Given the description of an element on the screen output the (x, y) to click on. 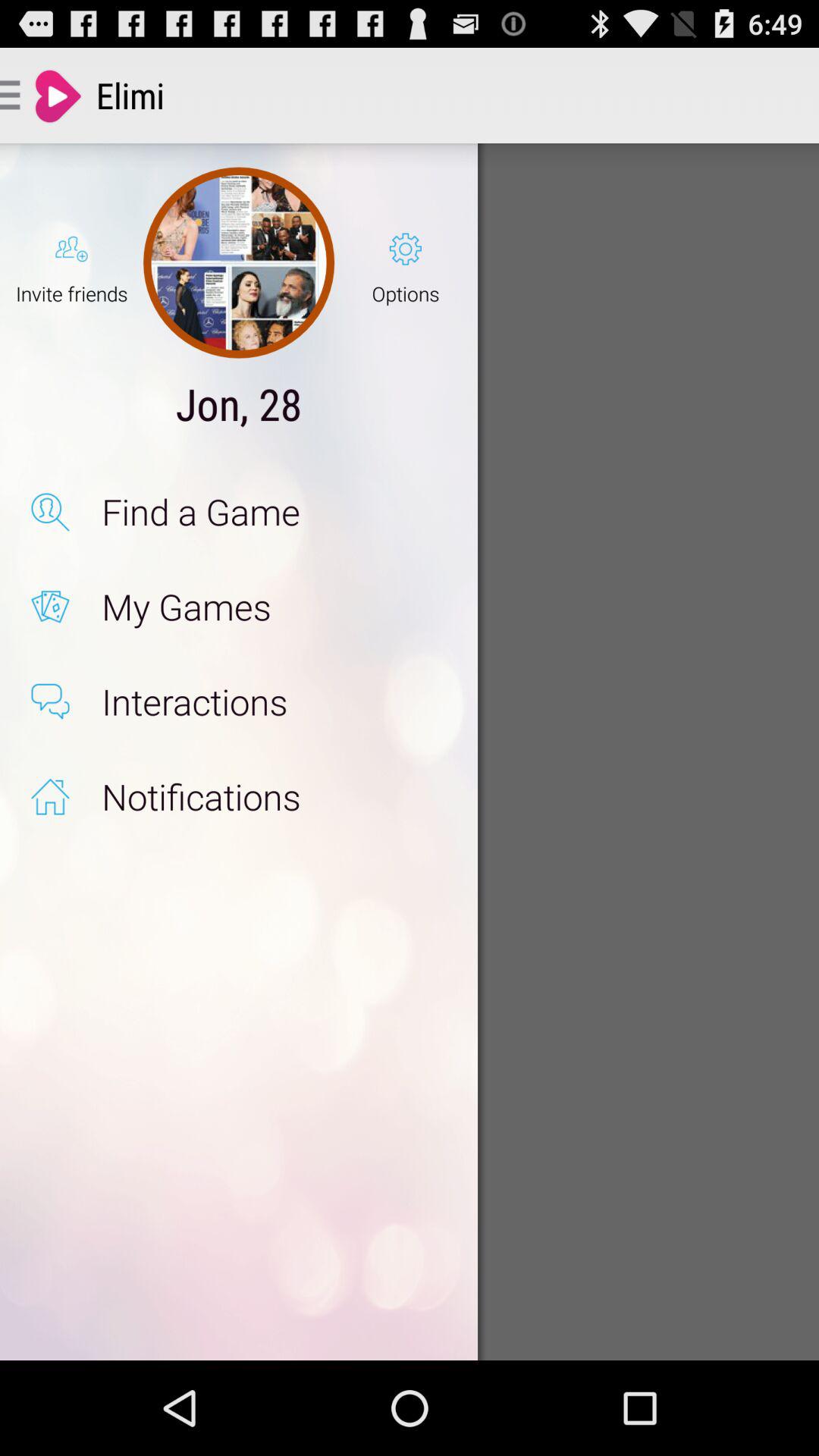
profile picture (238, 262)
